Given the description of an element on the screen output the (x, y) to click on. 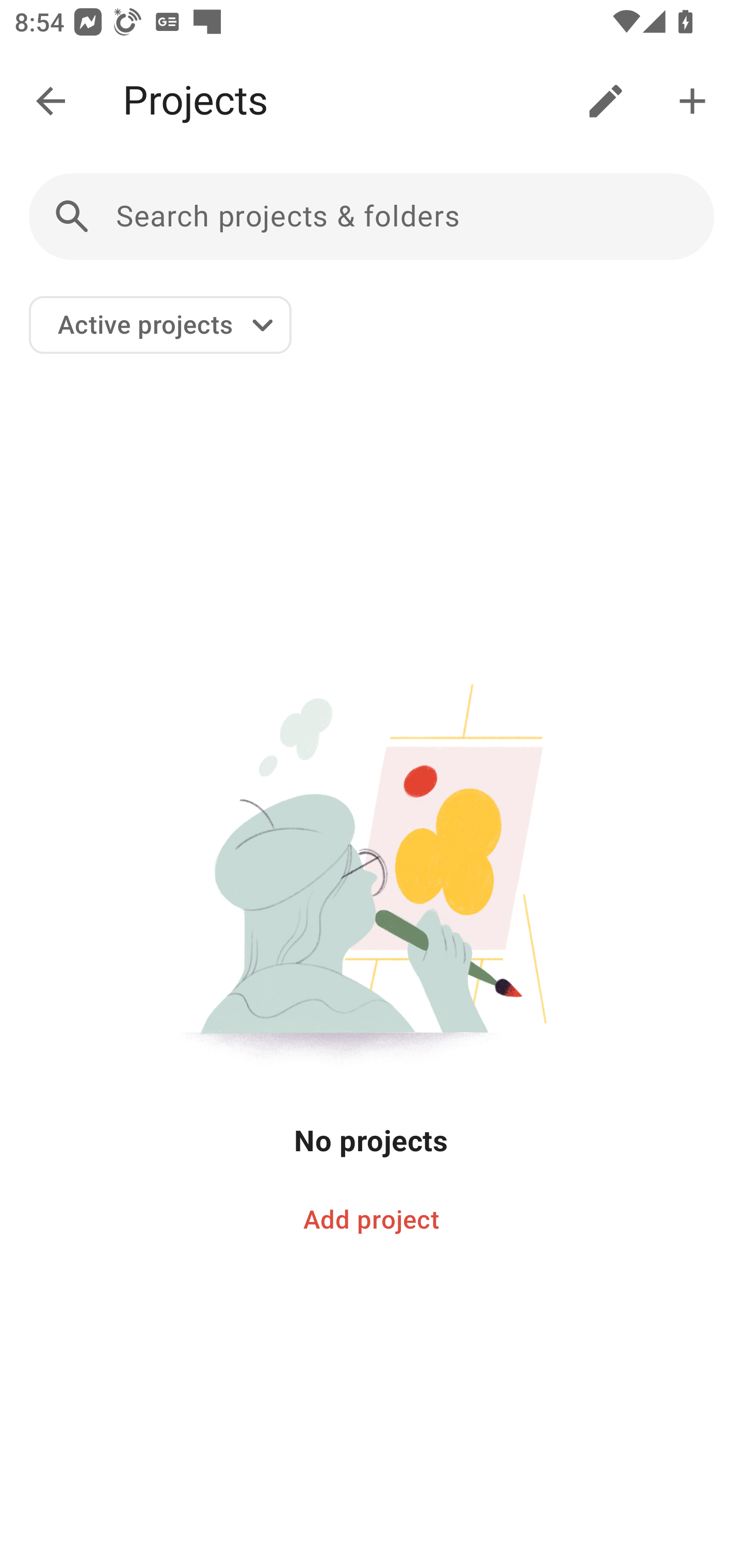
Back (50, 101)
Manage (605, 101)
Add (692, 101)
Search Search projects & folders (371, 217)
Active projects (159, 325)
Add project (371, 1219)
